Given the description of an element on the screen output the (x, y) to click on. 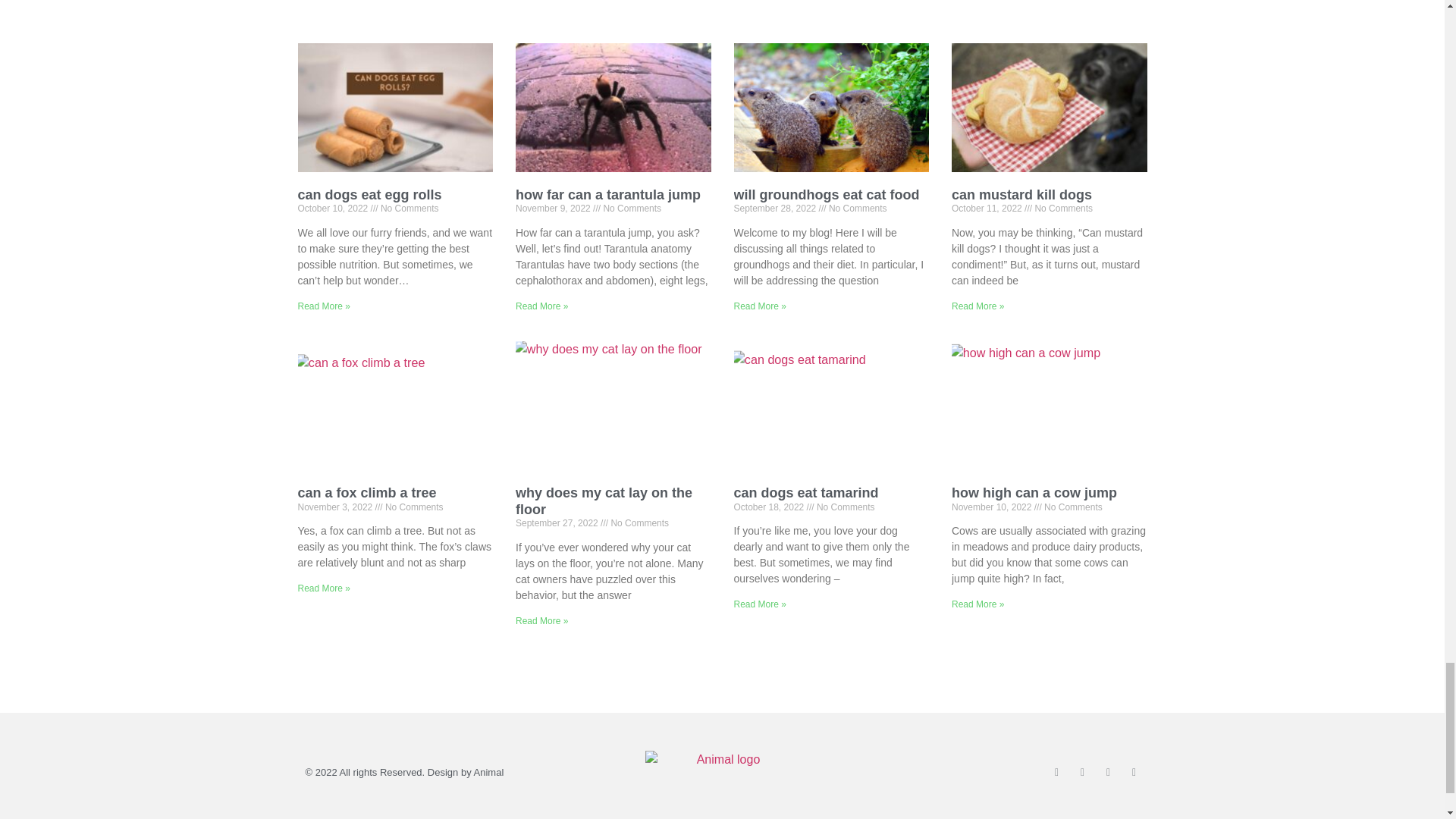
can dogs eat egg rolls (369, 194)
can a fox climb a tree (366, 492)
why does my cat lay on the floor (604, 500)
how far can a tarantula jump (607, 194)
can mustard kill dogs (1022, 194)
will groundhogs eat cat food (826, 194)
how high can a cow jump (1034, 492)
can dogs eat tamarind (806, 492)
